Given the description of an element on the screen output the (x, y) to click on. 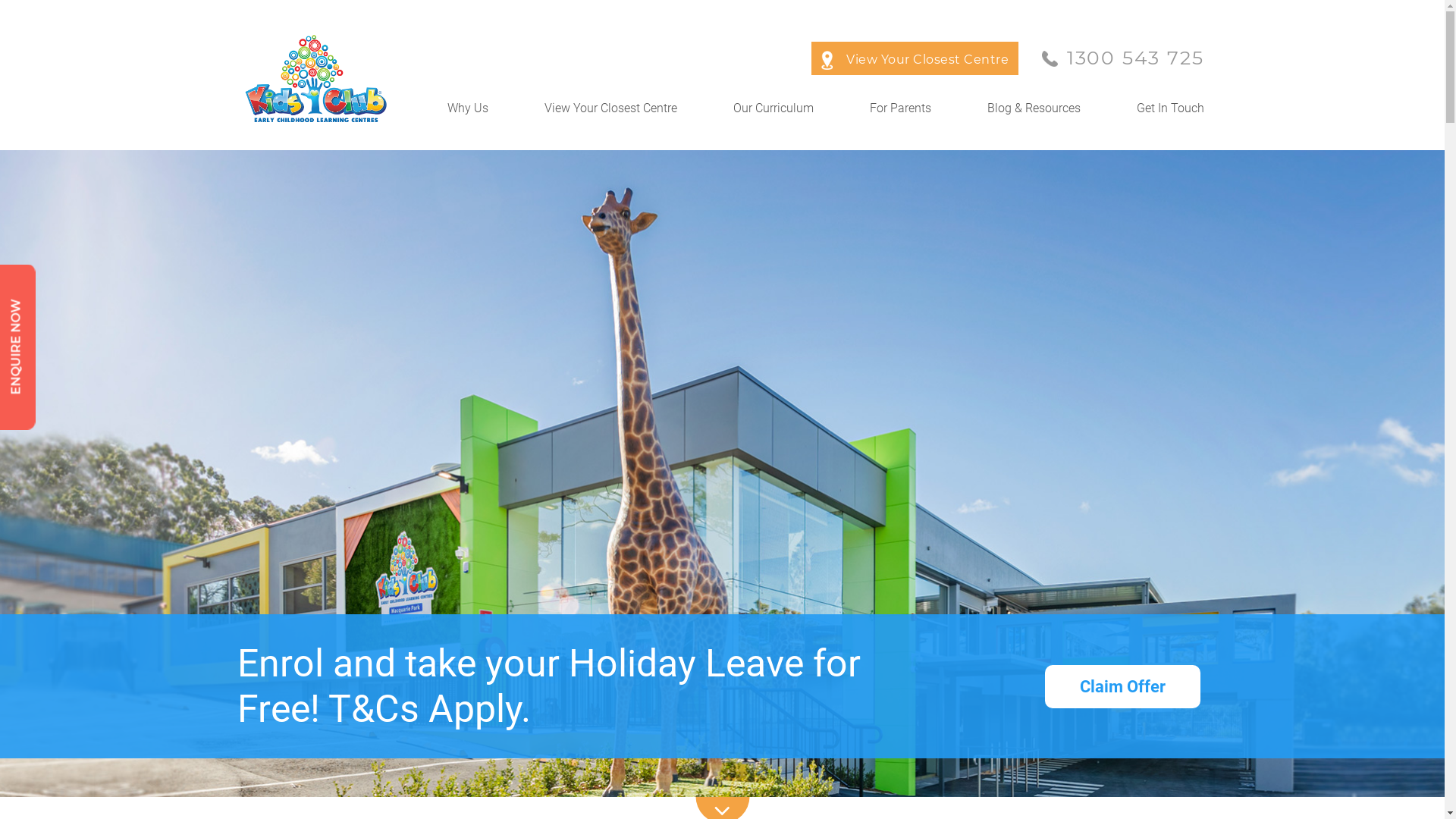
Kids Club Child Care Centres Element type: text (321, 78)
Get In Touch Element type: text (1169, 113)
View Your Closest Centre Element type: text (610, 113)
1300 543 725 Element type: text (1122, 57)
Why Us Element type: text (467, 113)
For Parents Element type: text (899, 113)
Blog & Resources Element type: text (1033, 113)
Claim Offer Element type: text (1122, 685)
View Your Closest Centre Element type: text (915, 59)
Our Curriculum Element type: text (772, 113)
